Given the description of an element on the screen output the (x, y) to click on. 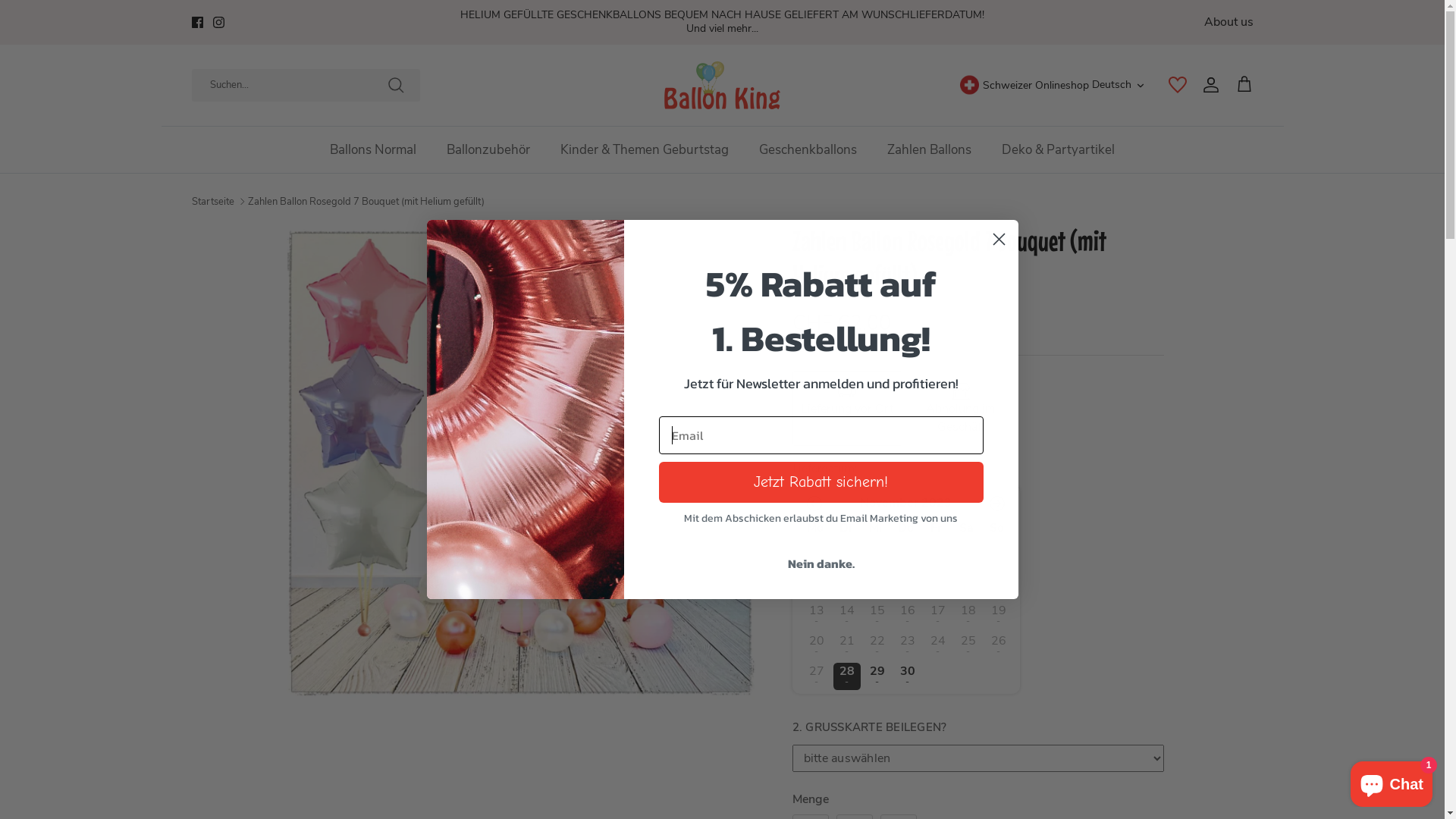
Nein danke. Element type: text (820, 563)
Deutsch
Runter Element type: text (1118, 84)
Warenkorb Element type: text (1243, 84)
ballonking.h Element type: hover (524, 409)
Onlineshop-Chat von Shopify Element type: hover (1391, 780)
Jetzt Rabatt sichern! Element type: text (820, 481)
Submit Element type: text (42, 18)
Instagram Element type: text (217, 22)
Ballonking.ch Element type: hover (722, 84)
Kinder & Themen Geburtstag Element type: text (644, 149)
About us Element type: text (1228, 21)
Deko & Partyartikel Element type: text (1058, 149)
Zahlen Ballons Element type: text (929, 149)
Geschenkballons Element type: text (807, 149)
Ballons Normal Element type: text (372, 149)
Facebook Element type: text (196, 22)
Startseite Element type: text (212, 201)
Account Element type: text (1207, 84)
Close dialog 1 Element type: text (998, 238)
